Given the description of an element on the screen output the (x, y) to click on. 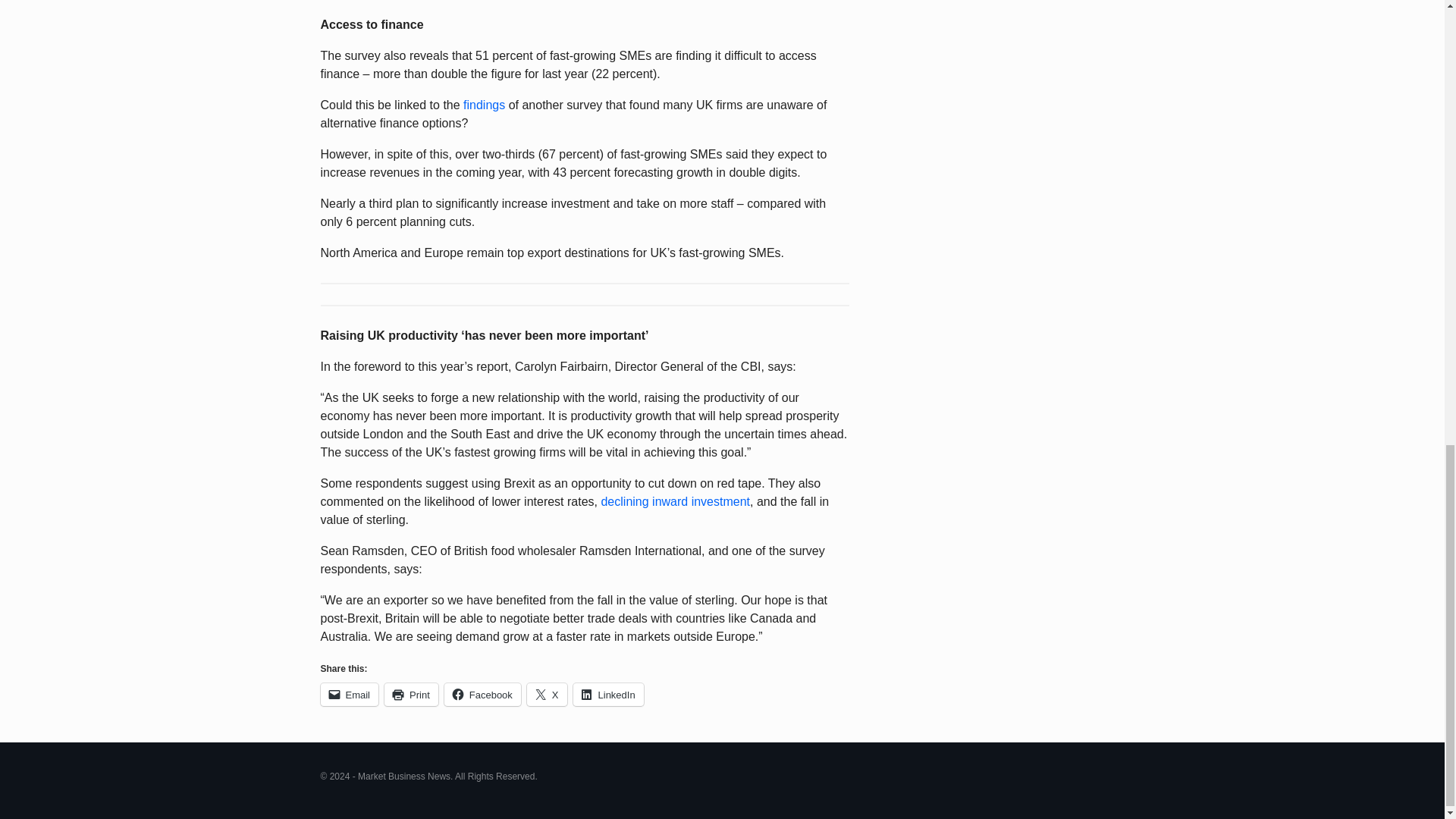
Click to print (411, 694)
LinkedIn (608, 694)
Print (411, 694)
Email (349, 694)
Click to share on X (547, 694)
Click to email a link to a friend (349, 694)
X (547, 694)
Click to share on Facebook (482, 694)
declining inward investment (674, 501)
Click to share on LinkedIn (608, 694)
